Given the description of an element on the screen output the (x, y) to click on. 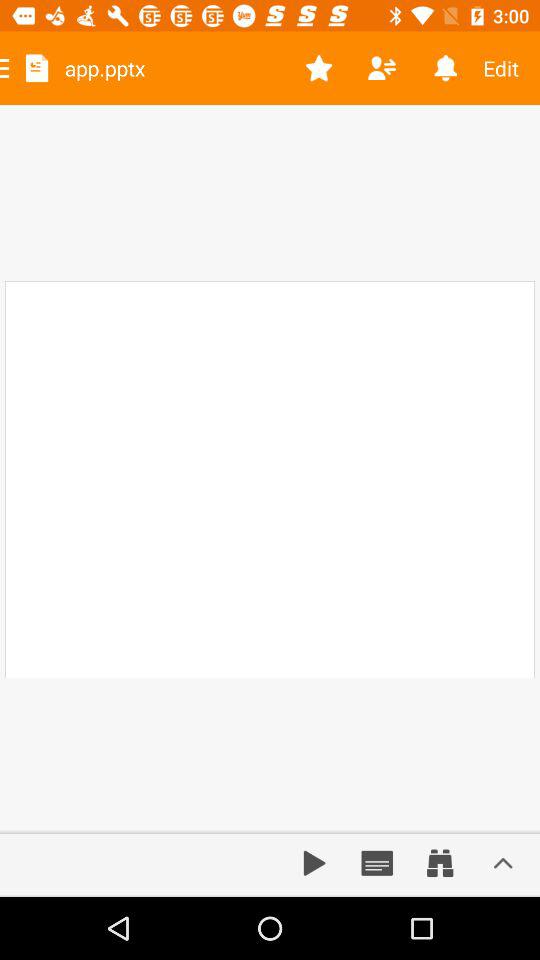
add to favorites (318, 68)
